Given the description of an element on the screen output the (x, y) to click on. 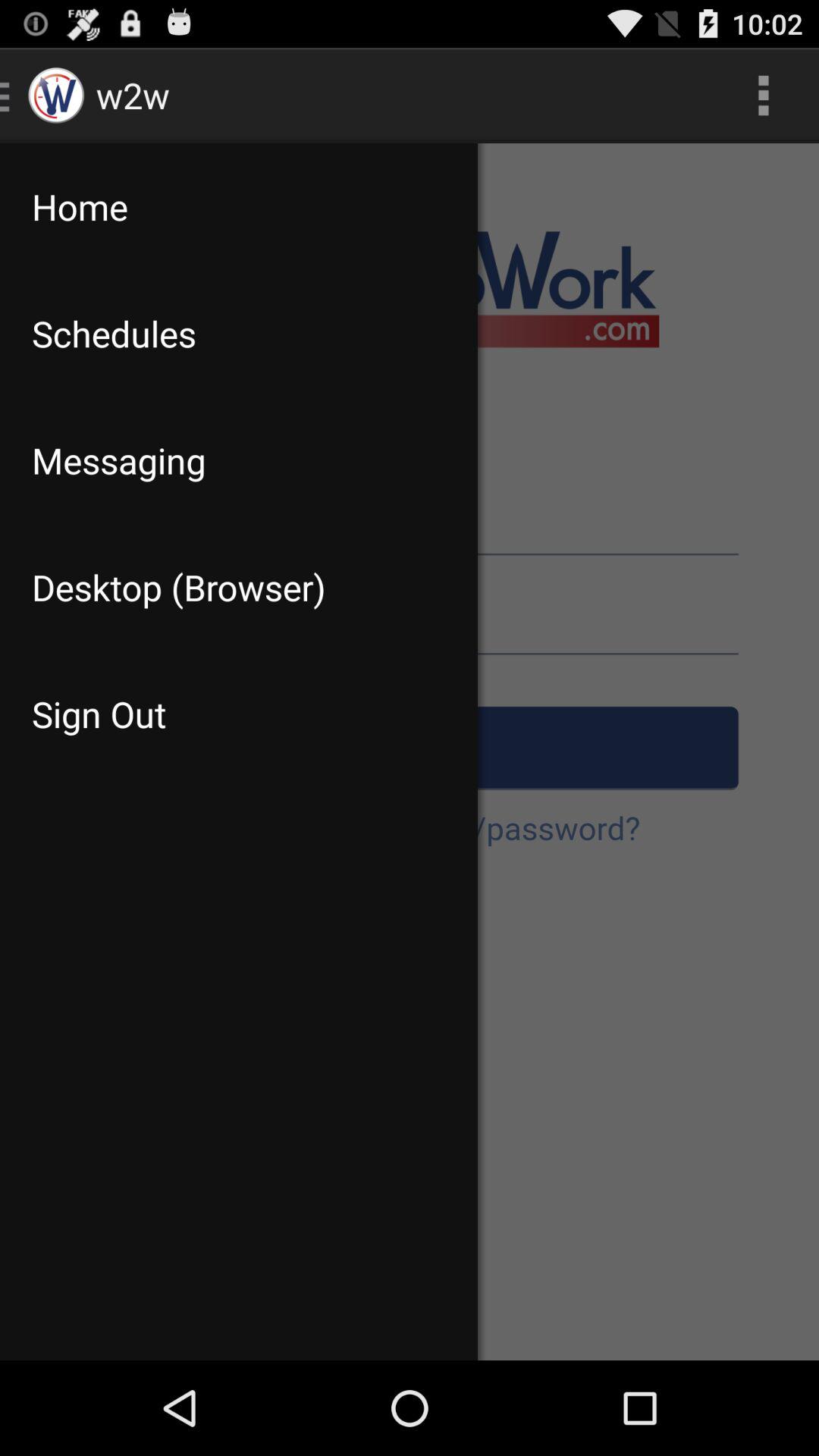
open the sign out item (238, 714)
